Given the description of an element on the screen output the (x, y) to click on. 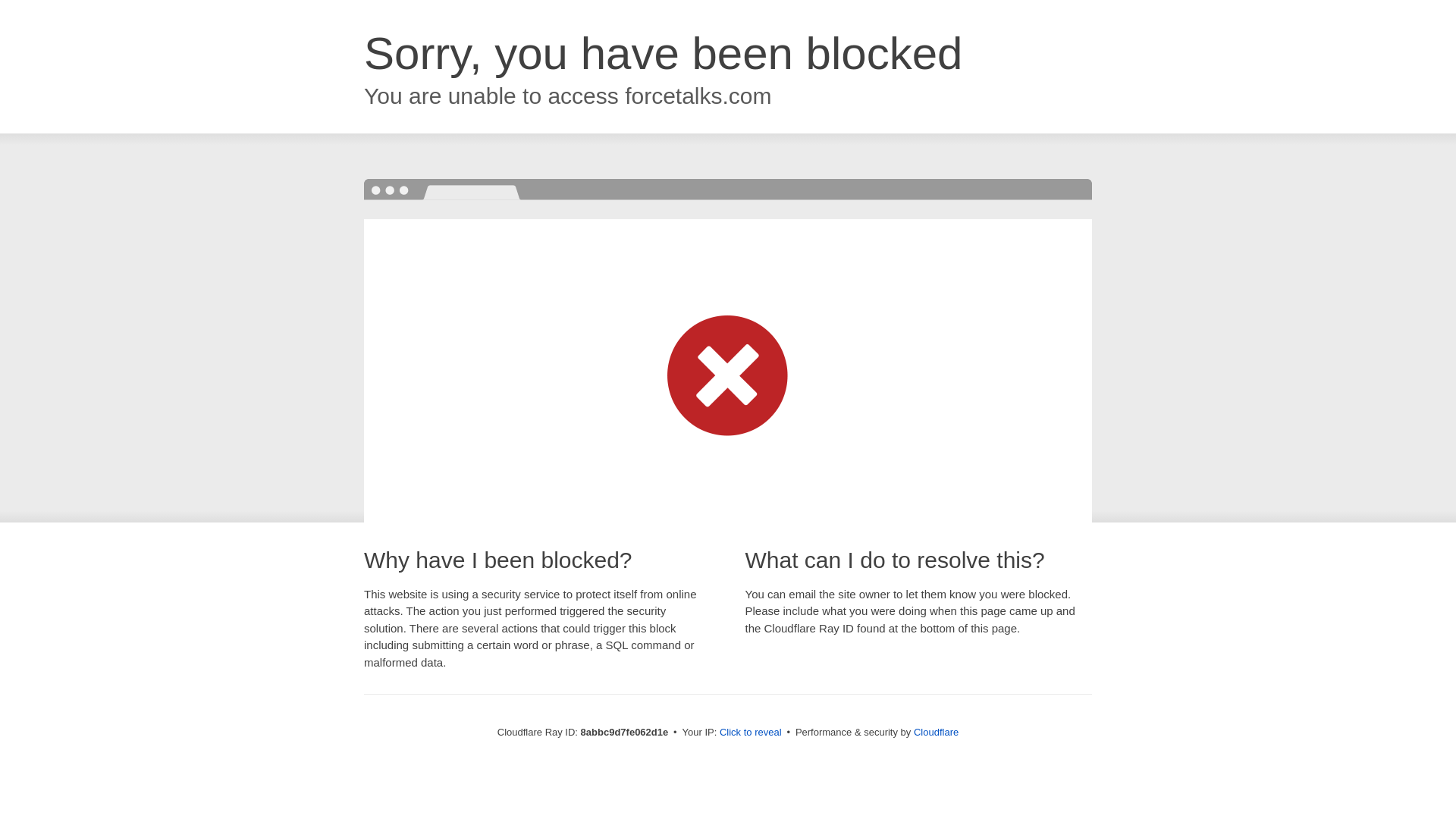
Click to reveal (750, 732)
Cloudflare (936, 731)
